Given the description of an element on the screen output the (x, y) to click on. 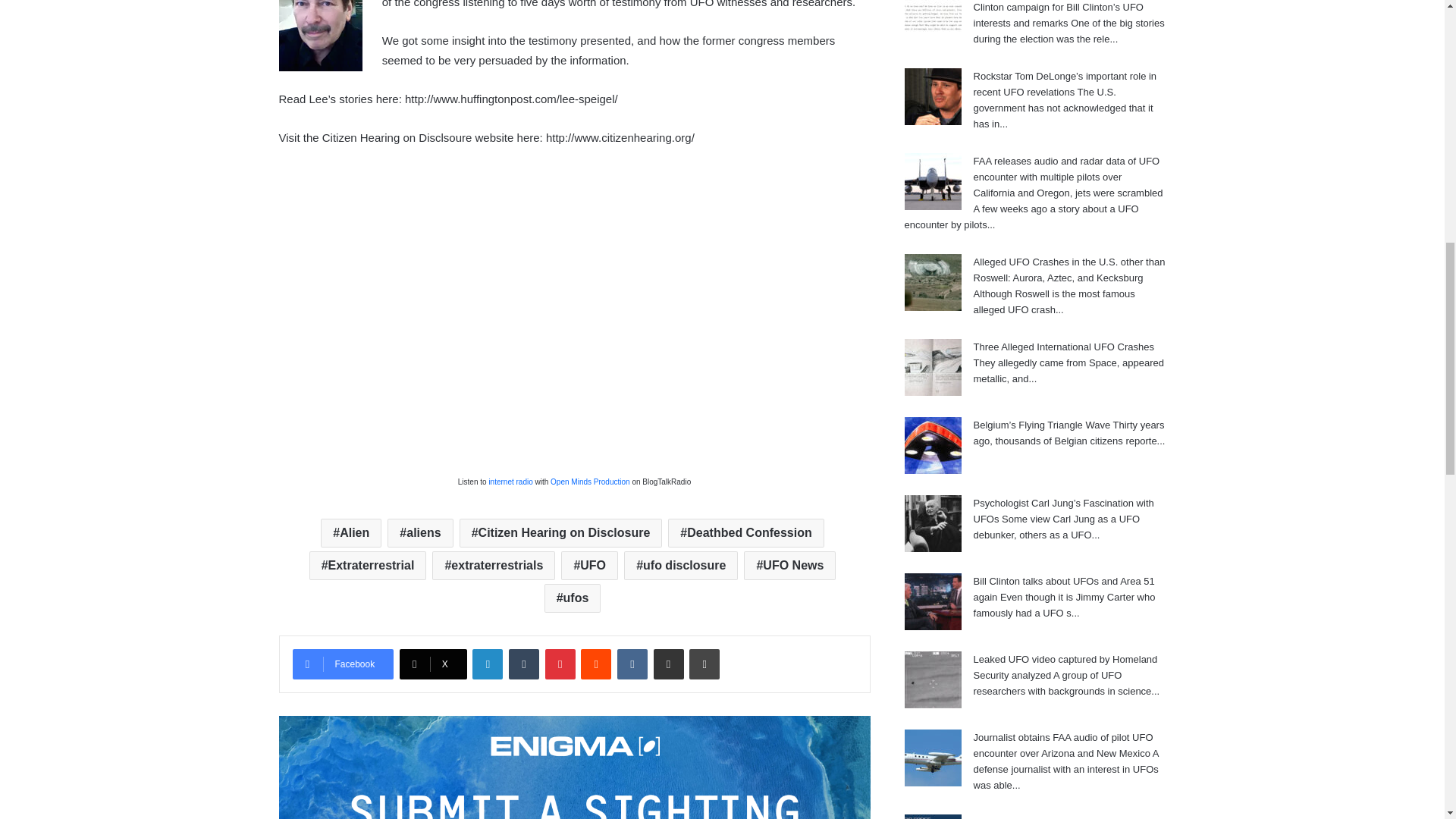
VKontakte (632, 664)
Print (703, 664)
Facebook (343, 664)
X (432, 664)
Pinterest (559, 664)
LinkedIn (486, 664)
Tumblr (523, 664)
Share via Email (668, 664)
Reddit (595, 664)
